Given the description of an element on the screen output the (x, y) to click on. 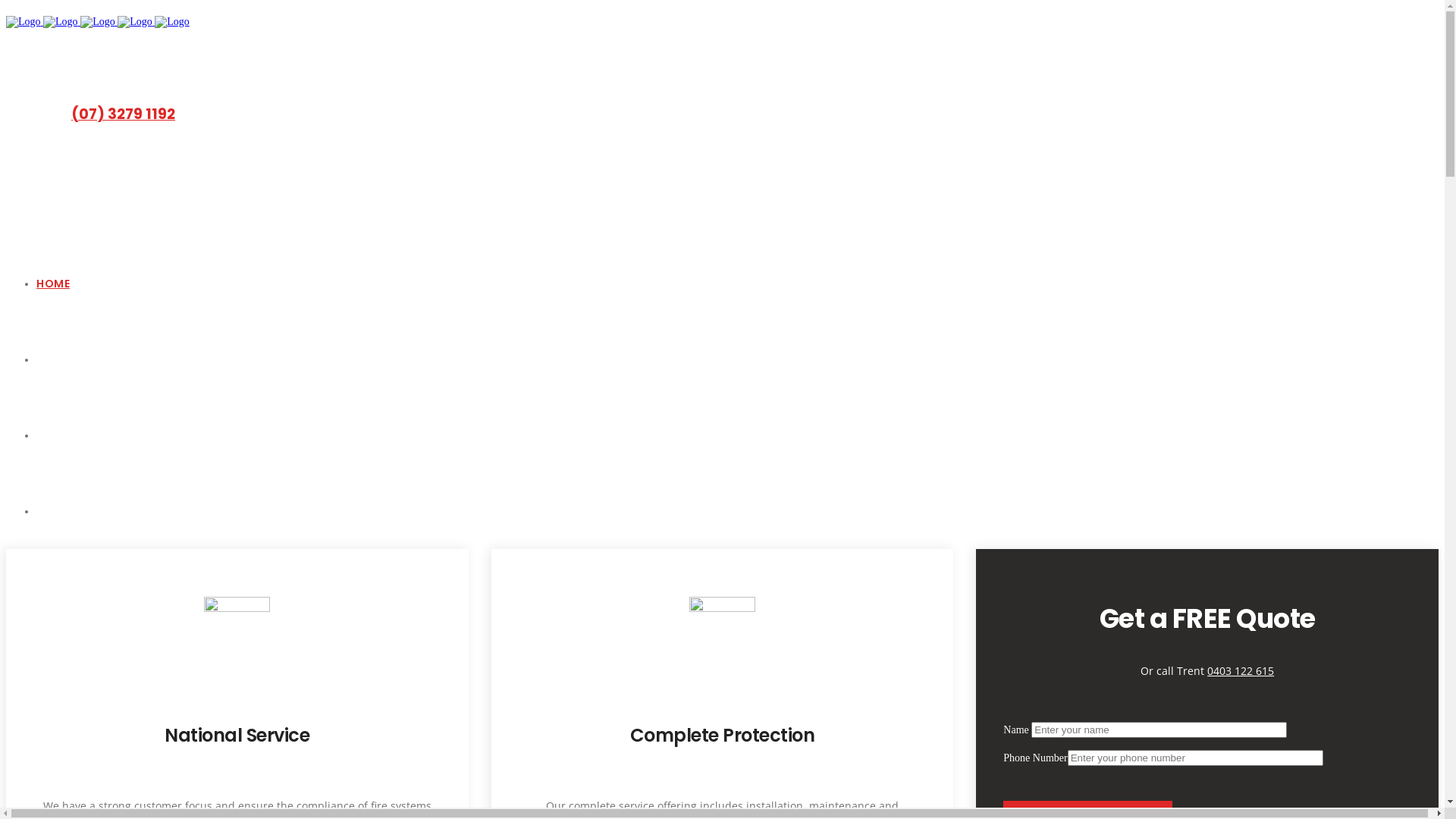
Projects Element type: text (53, 677)
ABOUT Element type: text (56, 359)
HOME Element type: text (52, 283)
About Element type: text (49, 652)
Contact Element type: text (52, 689)
0403 122 615 Element type: text (1240, 670)
Services Element type: text (54, 665)
CONTACT Element type: text (65, 586)
SERVICES Element type: text (62, 434)
Home Element type: text (49, 640)
(07) 3279 1192 Element type: text (123, 113)
PROJECTS Element type: text (65, 510)
